Given the description of an element on the screen output the (x, y) to click on. 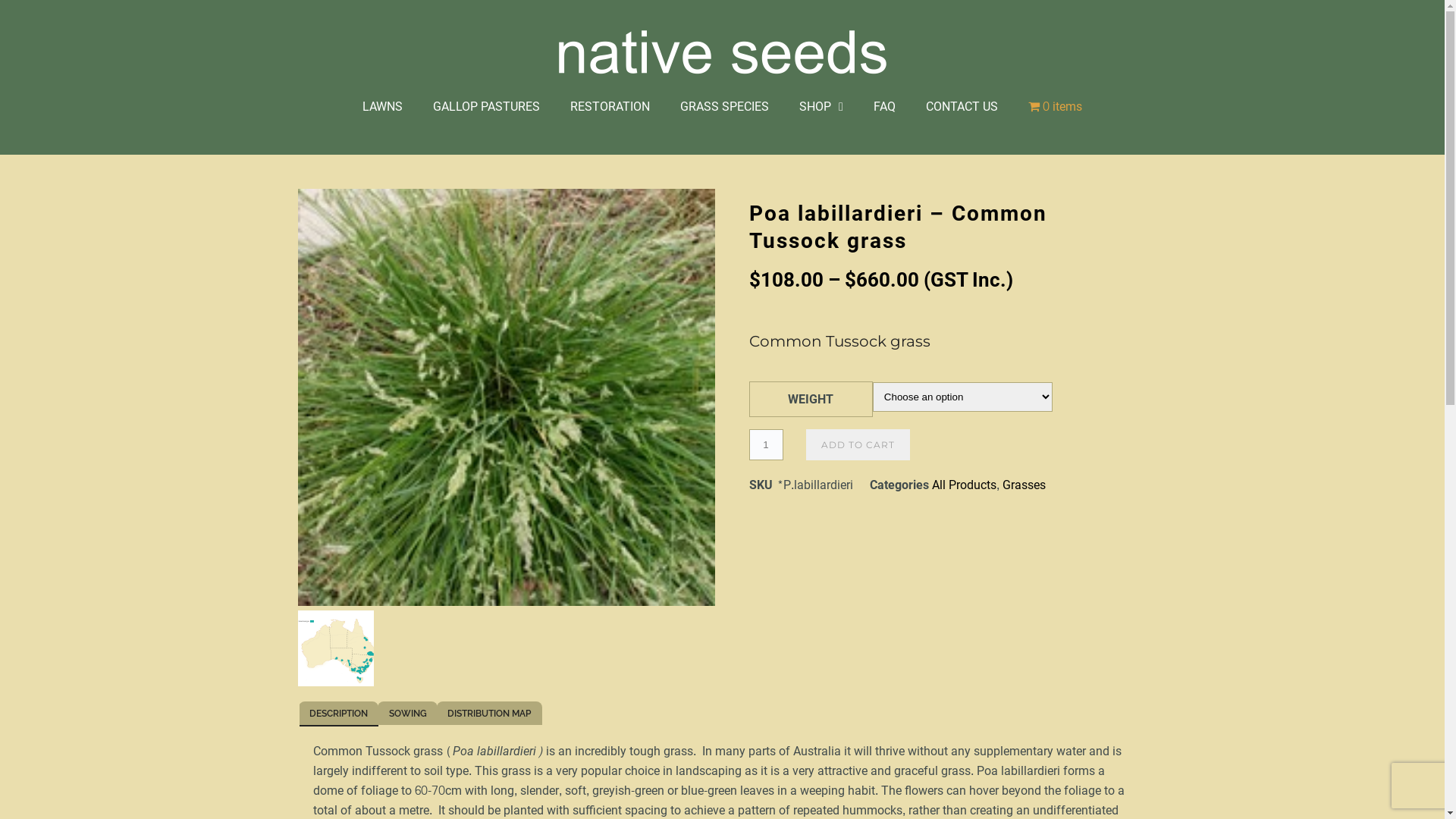
All Products Element type: text (963, 484)
Tussock map copy (1) Element type: hover (335, 648)
RESTORATION Element type: text (610, 106)
0 items Element type: text (1055, 106)
CONTACT US Element type: text (961, 106)
DESCRIPTION Element type: text (338, 713)
DISTRIBUTION MAP Element type: text (489, 712)
GRASS SPECIES Element type: text (724, 106)
LAWNS Element type: text (382, 106)
ADD TO CART Element type: text (857, 444)
FAQ Element type: text (884, 106)
Grasses Element type: text (1023, 484)
SHOP Element type: text (821, 106)
SOWING Element type: text (407, 712)
GALLOP PASTURES Element type: text (486, 106)
Tussock-grass Element type: hover (505, 396)
